Given the description of an element on the screen output the (x, y) to click on. 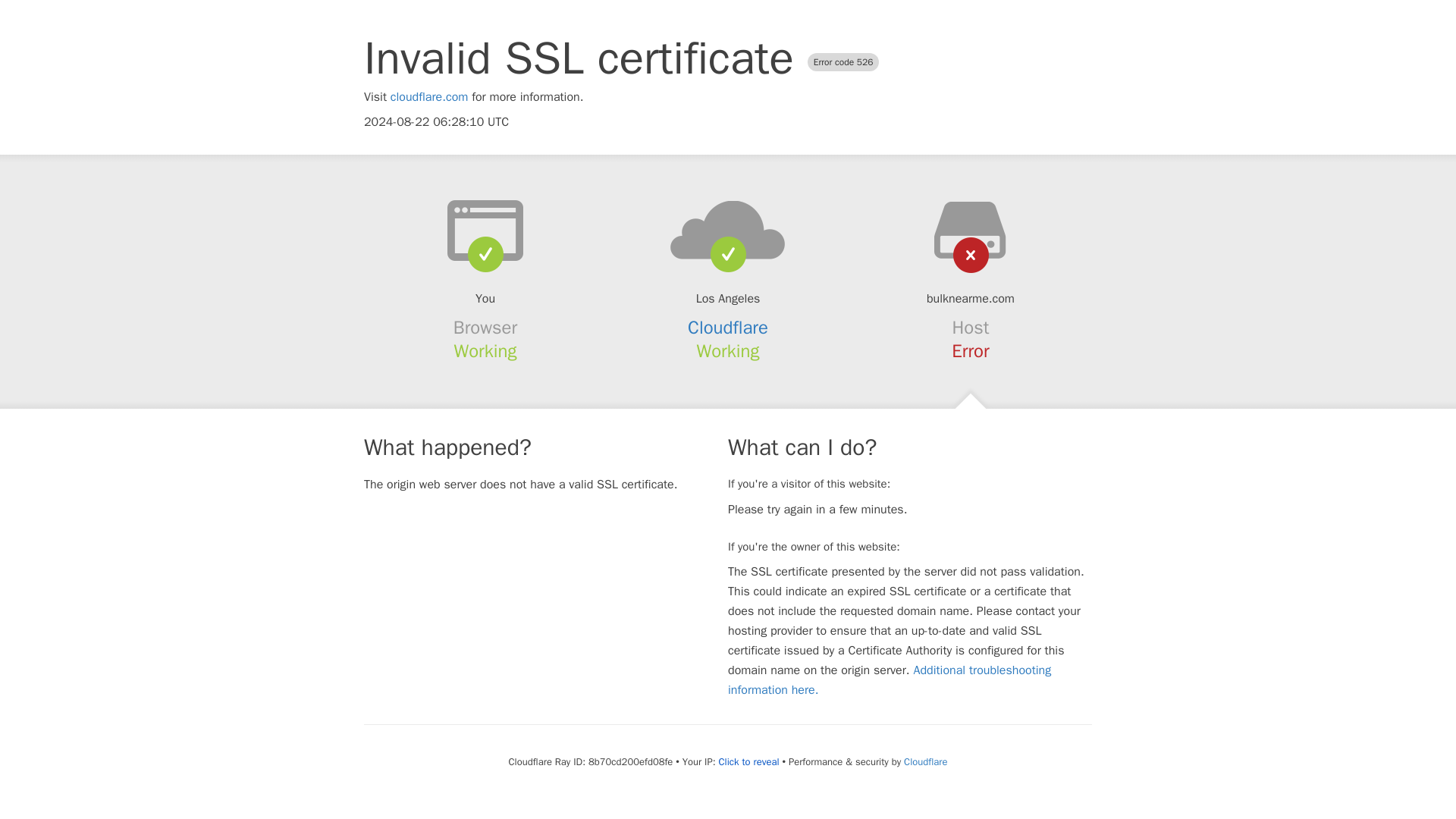
Cloudflare (925, 761)
Cloudflare (727, 327)
Click to reveal (748, 762)
cloudflare.com (429, 96)
Additional troubleshooting information here. (889, 679)
